Given the description of an element on the screen output the (x, y) to click on. 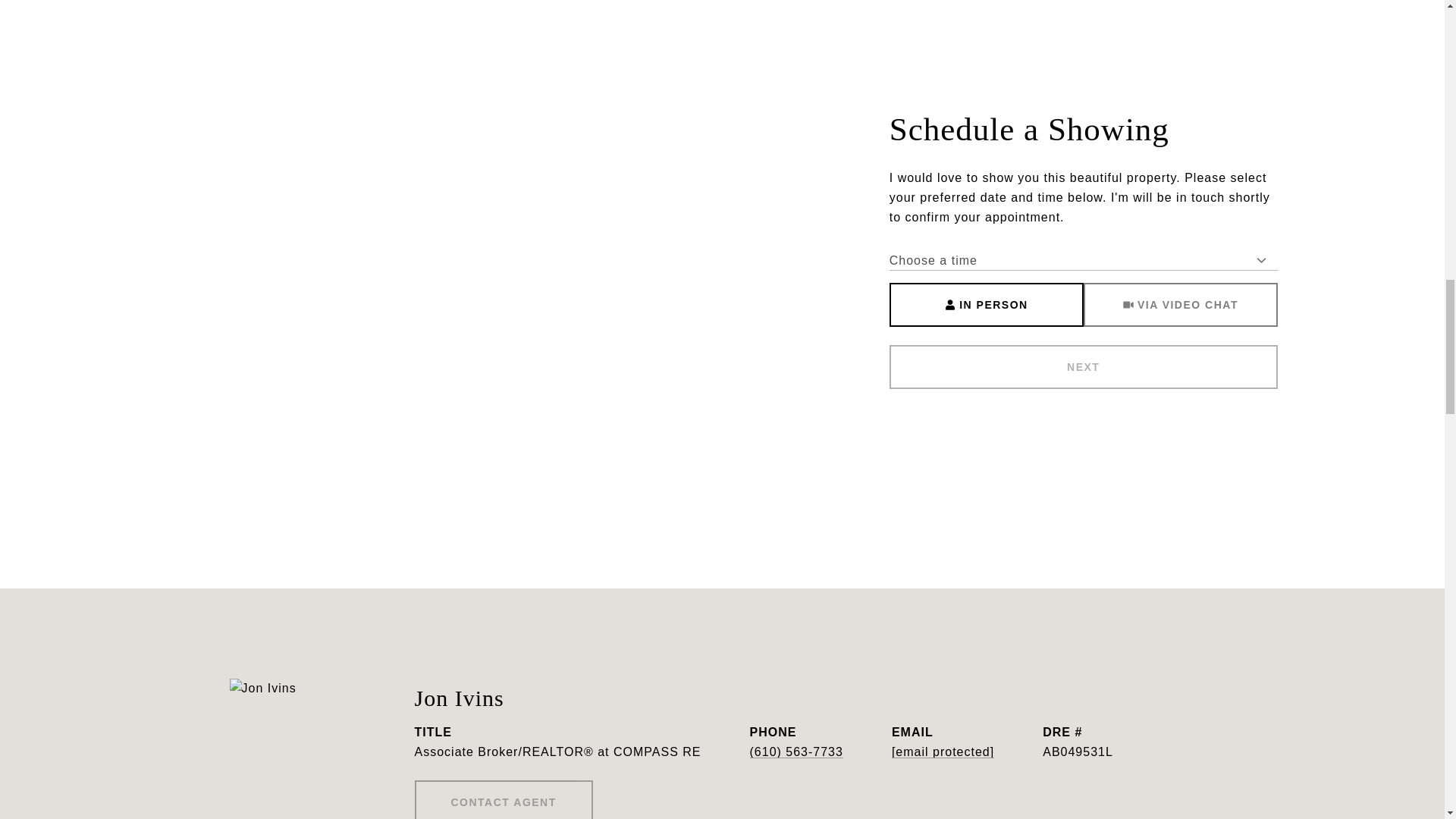
NEXT (1083, 366)
